Given the description of an element on the screen output the (x, y) to click on. 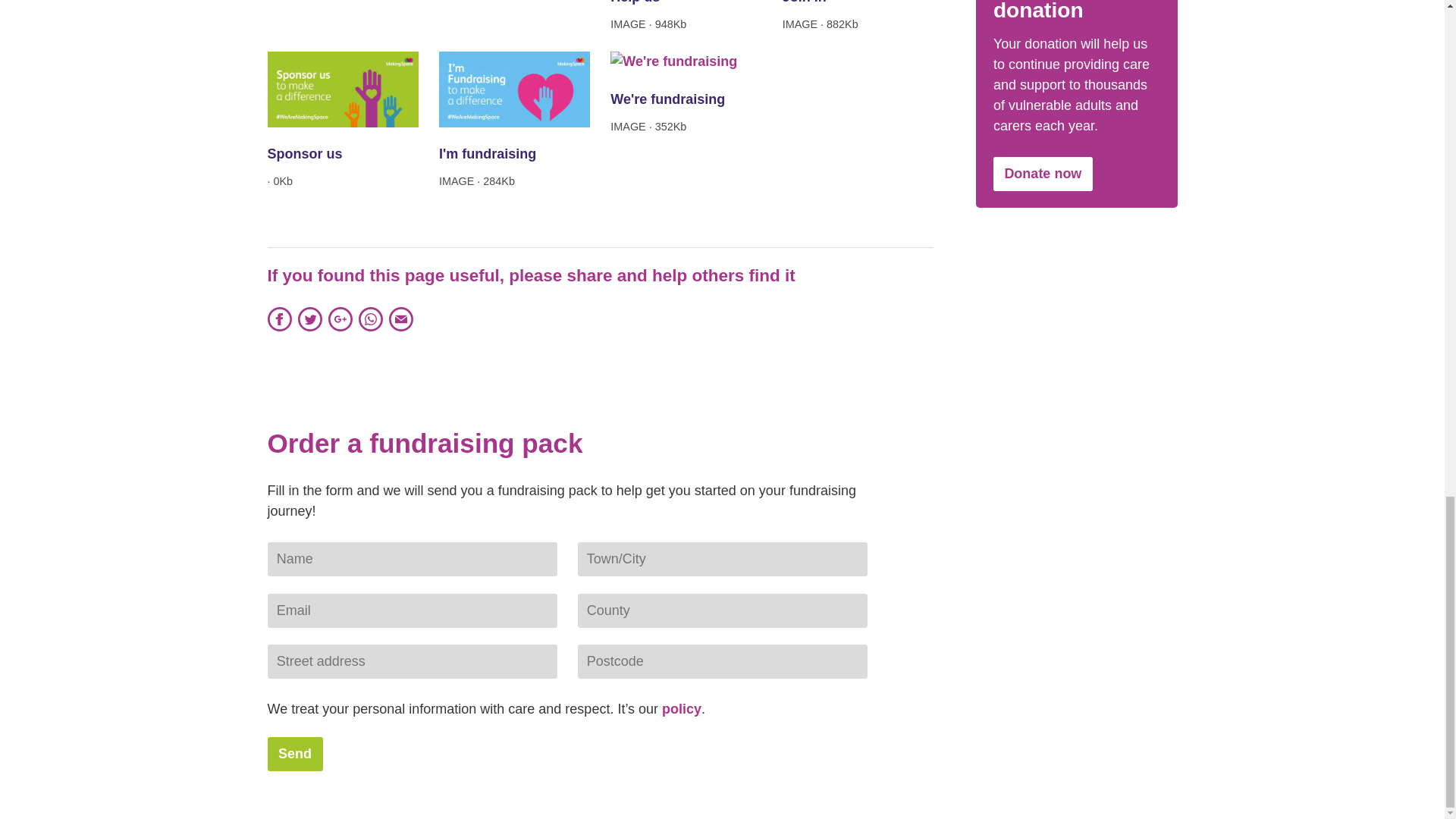
Send (293, 754)
